Given the description of an element on the screen output the (x, y) to click on. 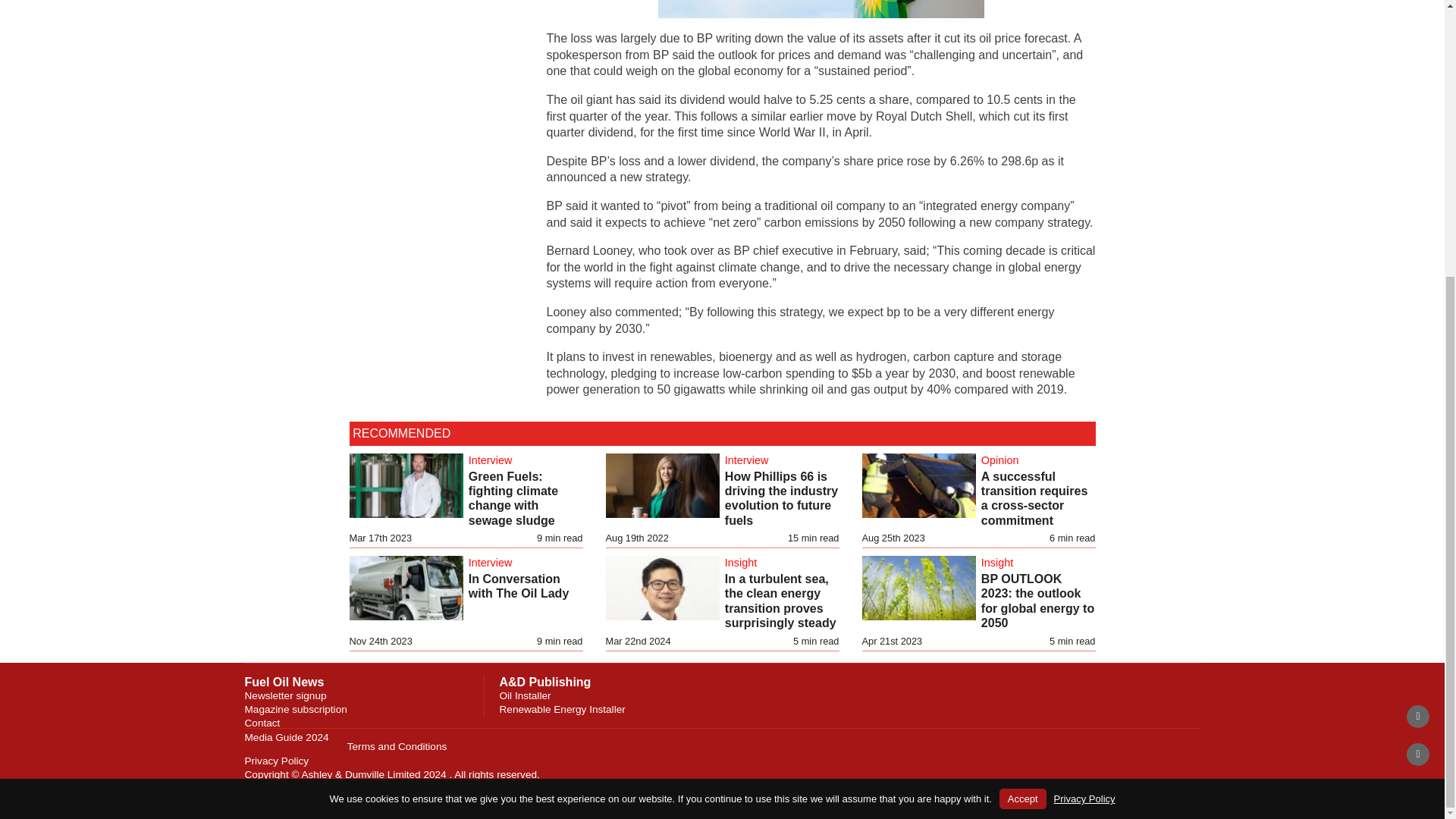
In Conversation with The Oil Lady (518, 585)
Green Fuels: fighting climate change with sewage sludge (512, 498)
A successful transition requires a cross-sector commitment (1034, 498)
A successful transition requires a cross-sector commitment (1034, 498)
BP OUTLOOK 2023: the outlook for global energy to 2050 (1037, 600)
Green Fuels: fighting climate change with sewage sludge (512, 498)
